Given the description of an element on the screen output the (x, y) to click on. 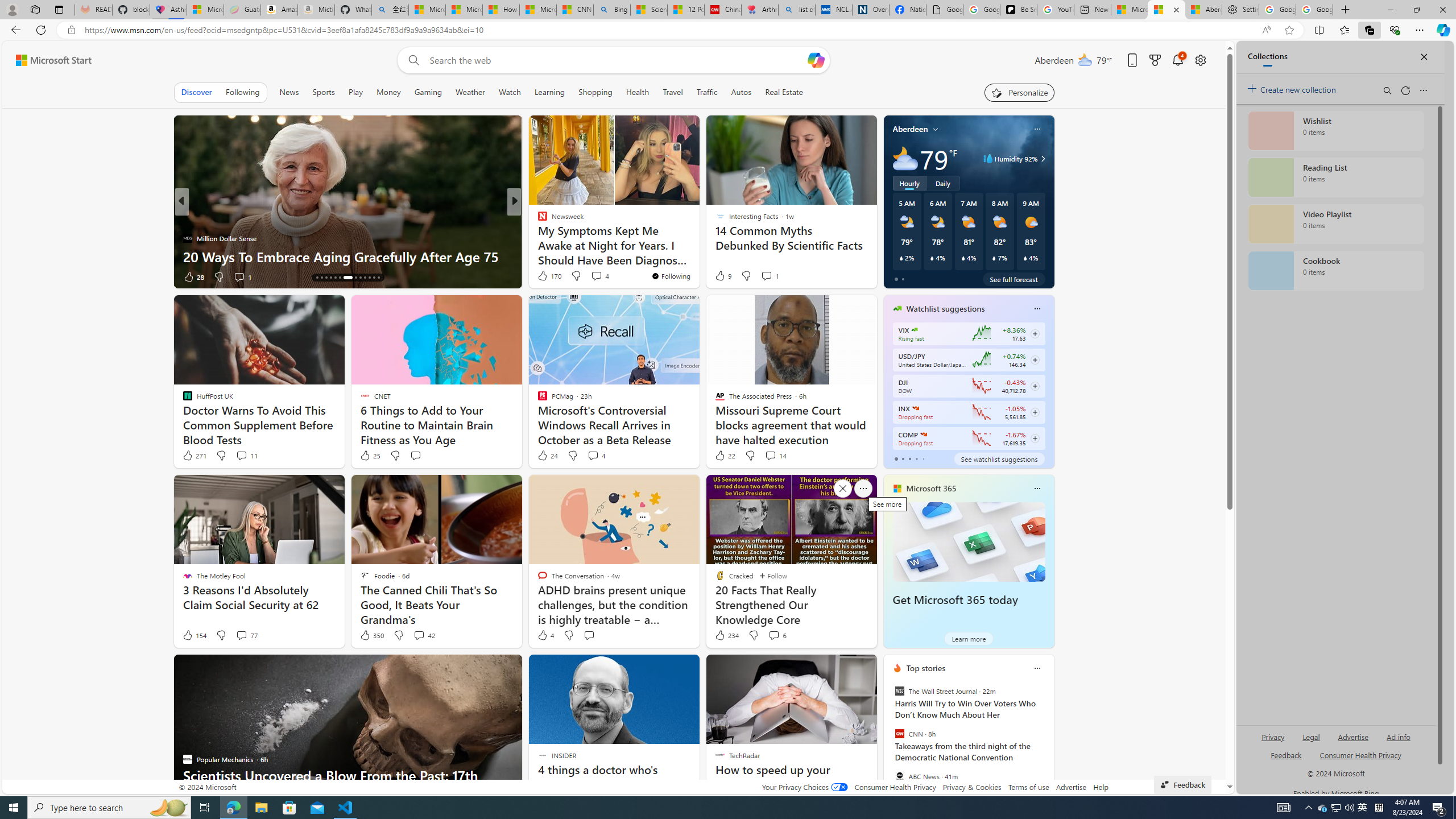
Learn more (967, 638)
View comments 14 Comment (775, 455)
tab-3 (916, 458)
View comments 34 Comment (592, 276)
View comments 42 Comment (419, 635)
AutomationID: tab-25 (374, 277)
